Given the description of an element on the screen output the (x, y) to click on. 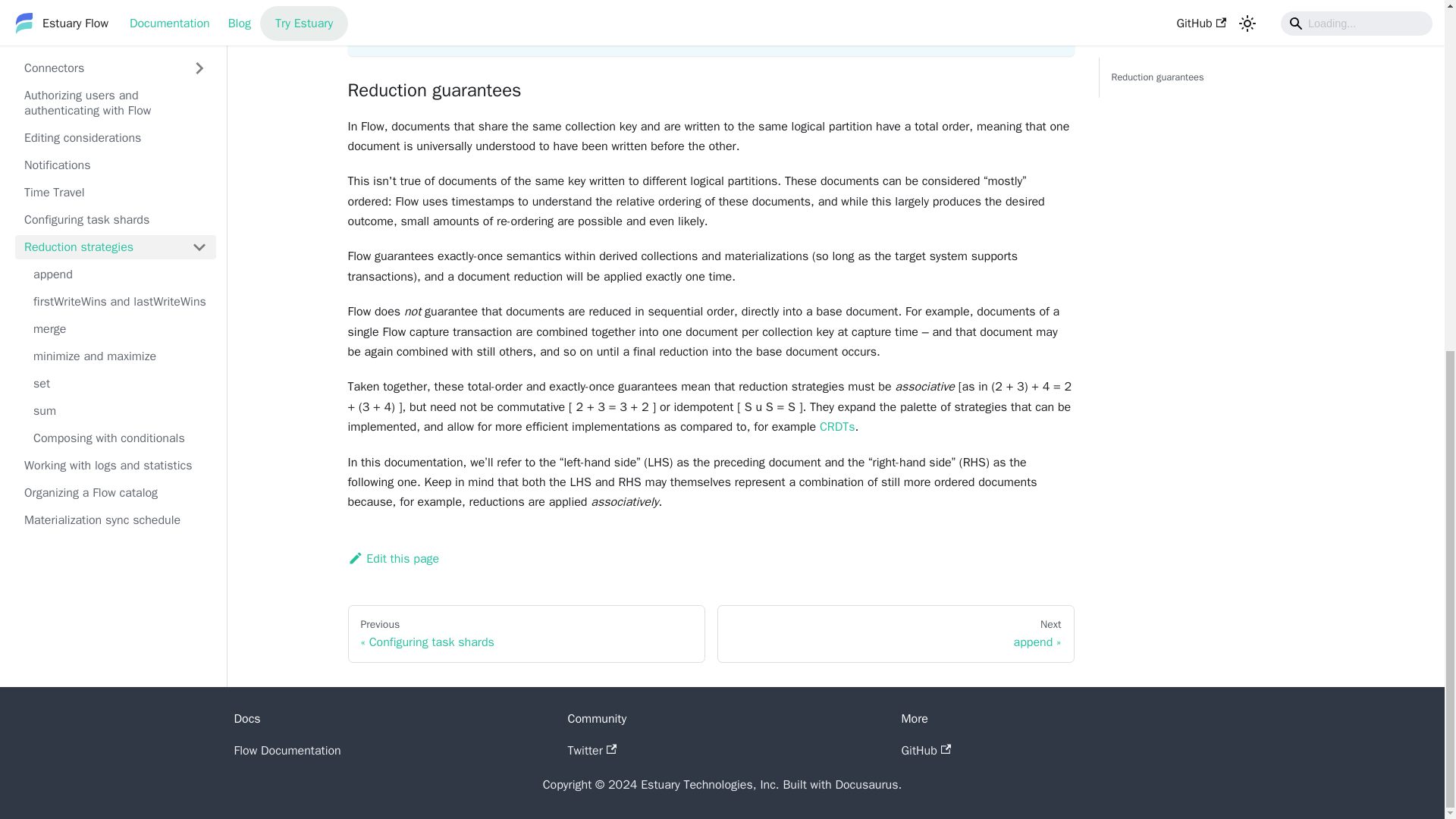
Organizing a Flow catalog (114, 15)
Materialization sync schedule (114, 42)
